Given the description of an element on the screen output the (x, y) to click on. 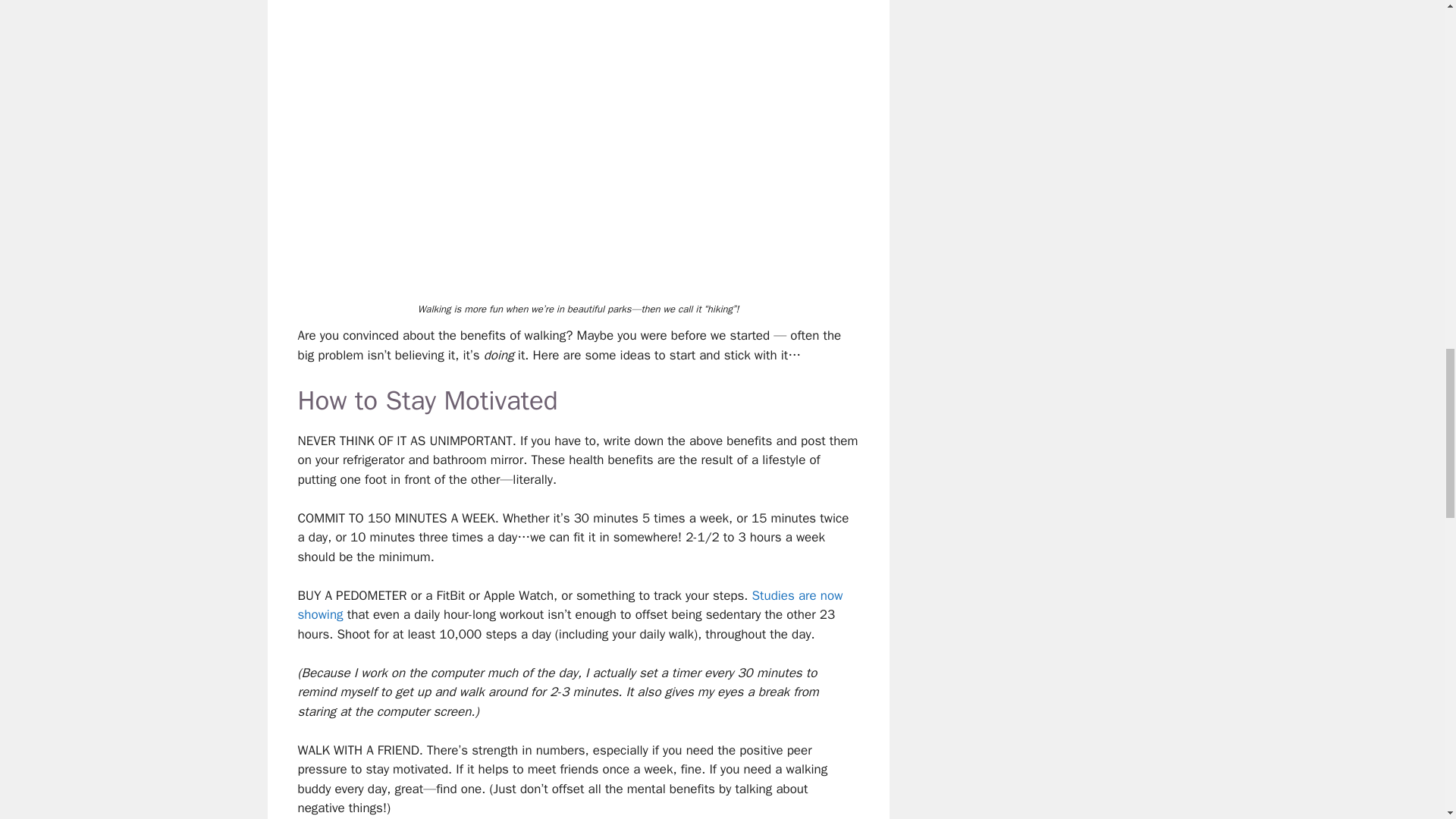
Studies are now showing (570, 605)
